Given the description of an element on the screen output the (x, y) to click on. 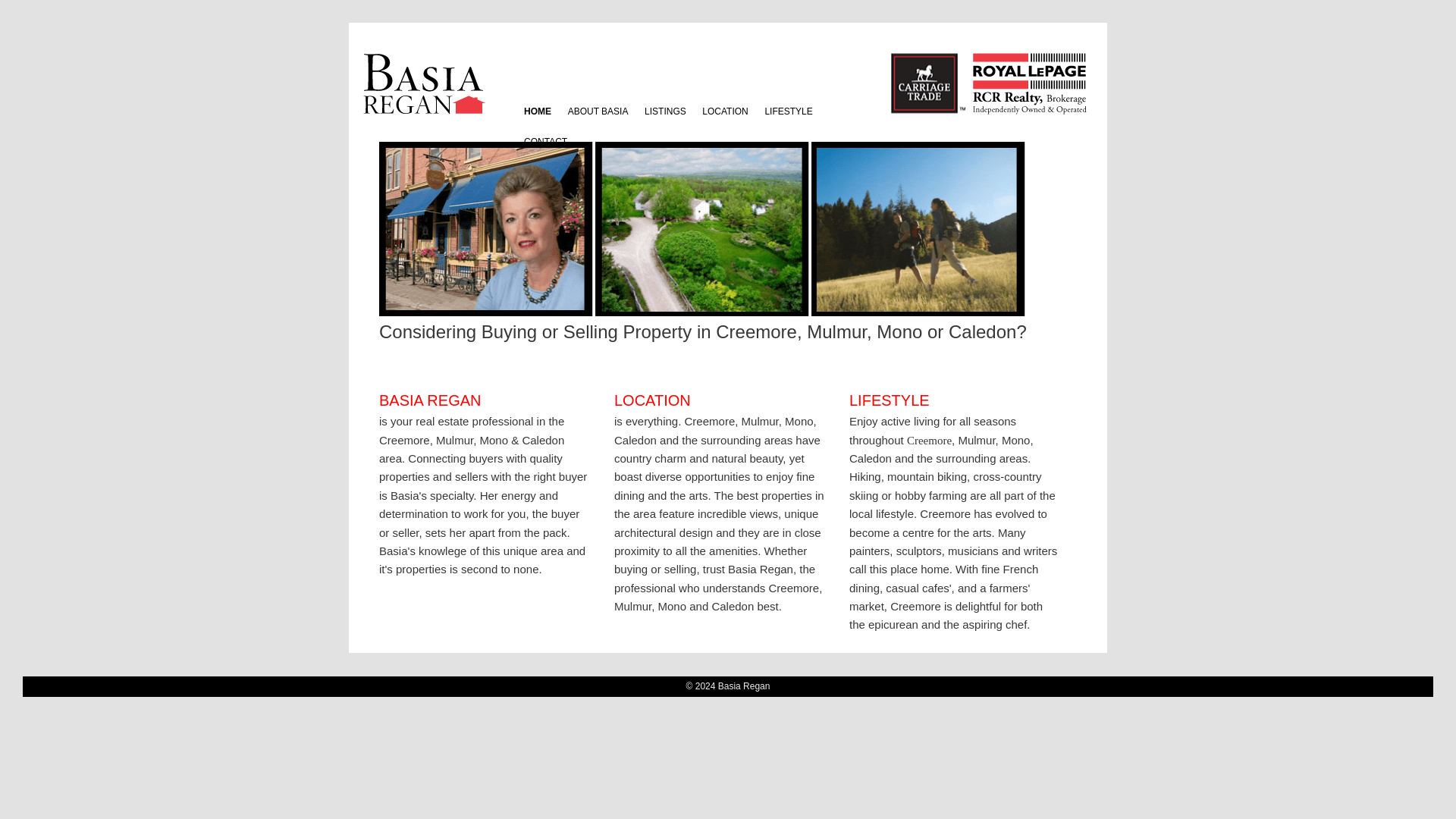
ABOUT BASIA (597, 112)
LIFESTYLE (789, 112)
Basia Regan (474, 91)
Basia Regan (474, 91)
Skip to secondary content (598, 116)
LISTINGS (665, 112)
LOCATION (725, 112)
Skip to secondary content (598, 116)
HOME (537, 112)
Skip to primary content (590, 116)
Skip to primary content (590, 116)
CONTACT (545, 142)
